Given the description of an element on the screen output the (x, y) to click on. 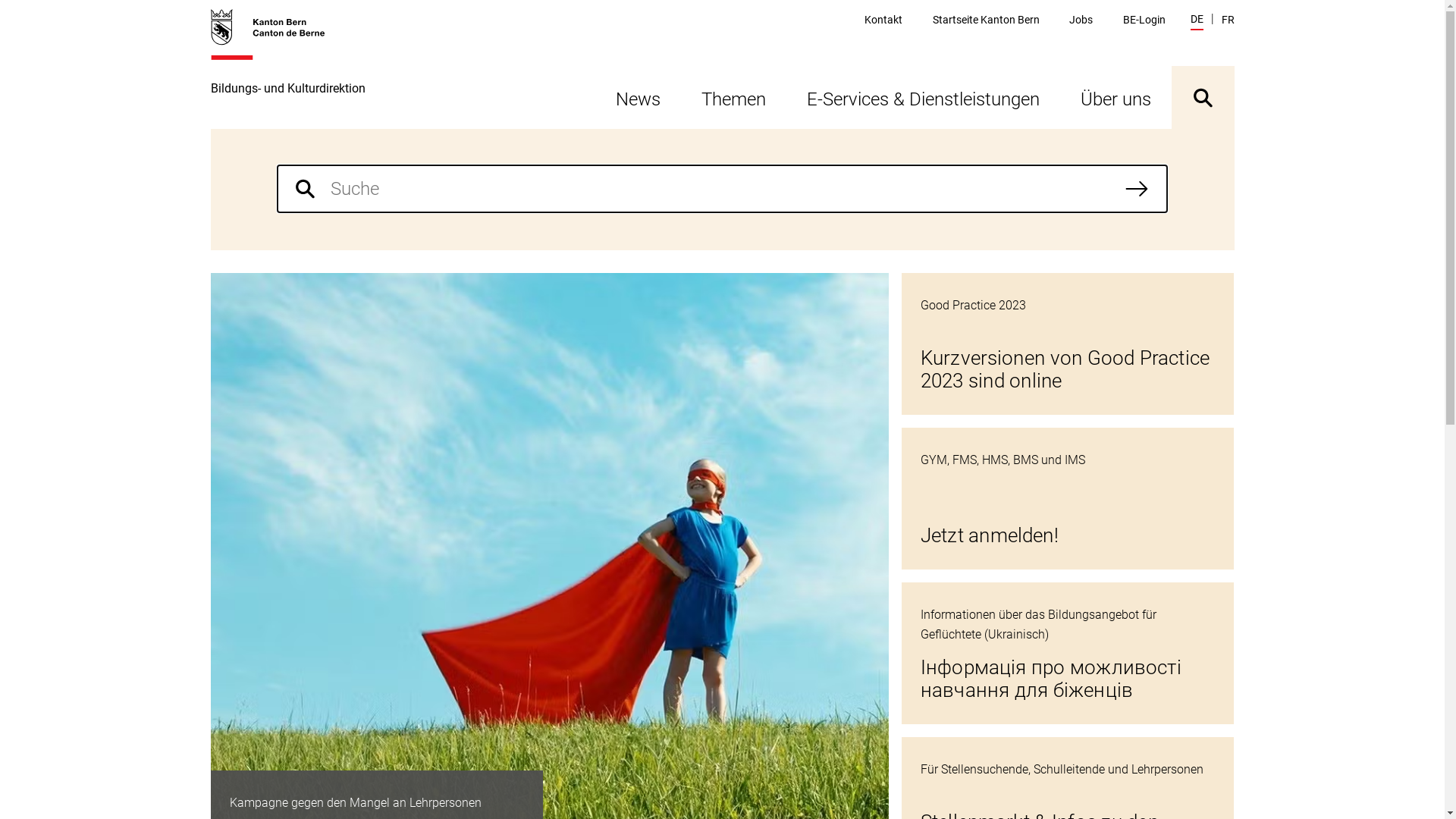
Suche ein- oder ausblenden Element type: text (1201, 96)
Suchen Element type: text (1136, 188)
DE Element type: text (1196, 21)
News Element type: text (637, 96)
Jobs Element type: text (1080, 19)
Jetzt anmelden!
GYM, FMS, HMS, BMS und IMS Element type: text (1067, 498)
Bildungs- und Kulturdirektion Element type: text (287, 68)
E-Services & Dienstleistungen Element type: text (922, 96)
Themen Element type: text (733, 96)
Startseite Kanton Bern Element type: text (985, 19)
BE-Login Element type: text (1144, 19)
FR Element type: text (1226, 19)
Kontakt Element type: text (883, 19)
